Given the description of an element on the screen output the (x, y) to click on. 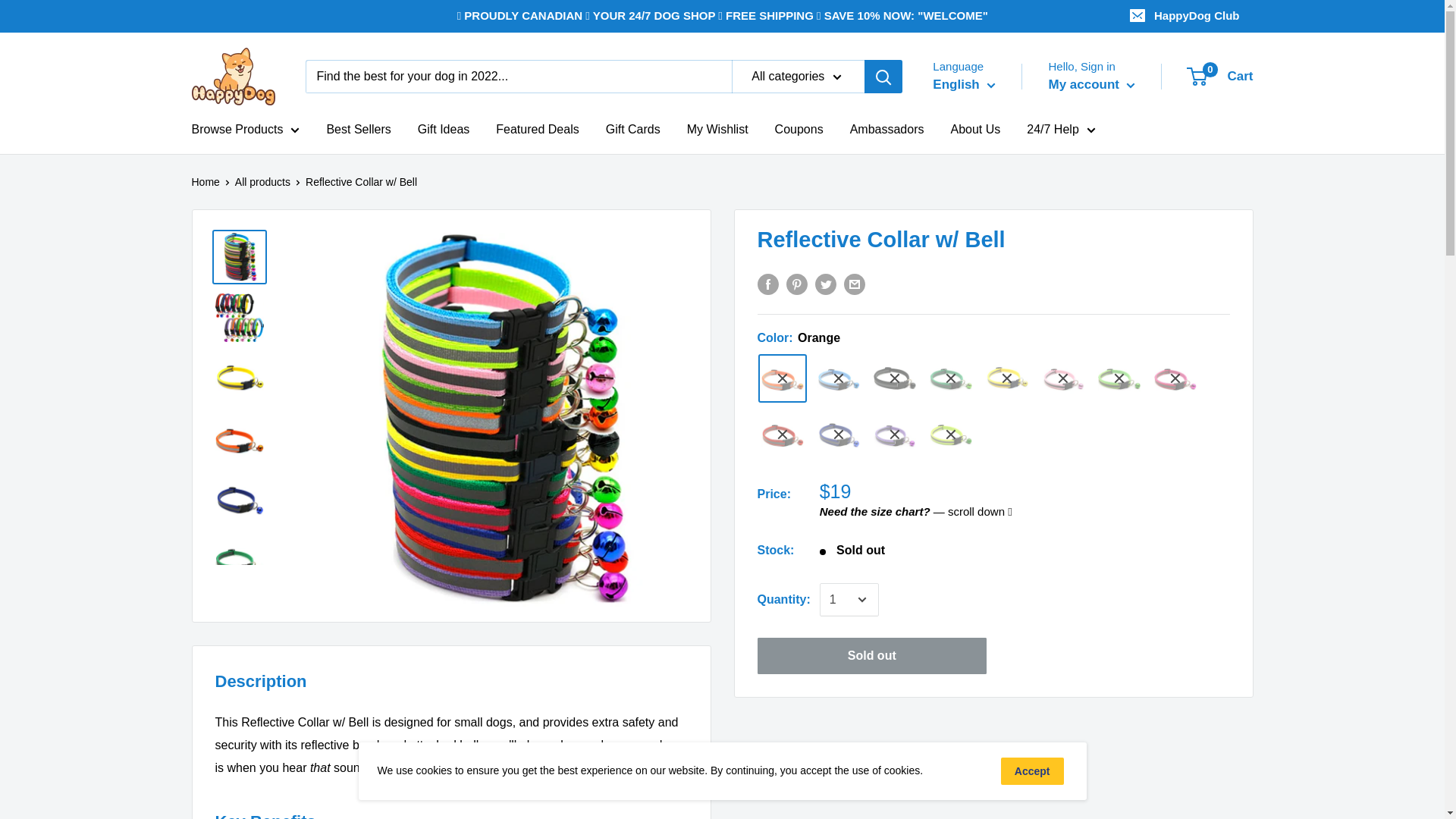
Blue (838, 434)
Light Blue (838, 377)
Light Pink (1063, 377)
Yellow (1006, 377)
Light Green (1118, 377)
HappyDog Club (1185, 15)
Lime (950, 434)
Black (894, 377)
Green (950, 377)
Purple (894, 434)
Orange (782, 377)
Red (782, 434)
Pink (1175, 377)
